Given the description of an element on the screen output the (x, y) to click on. 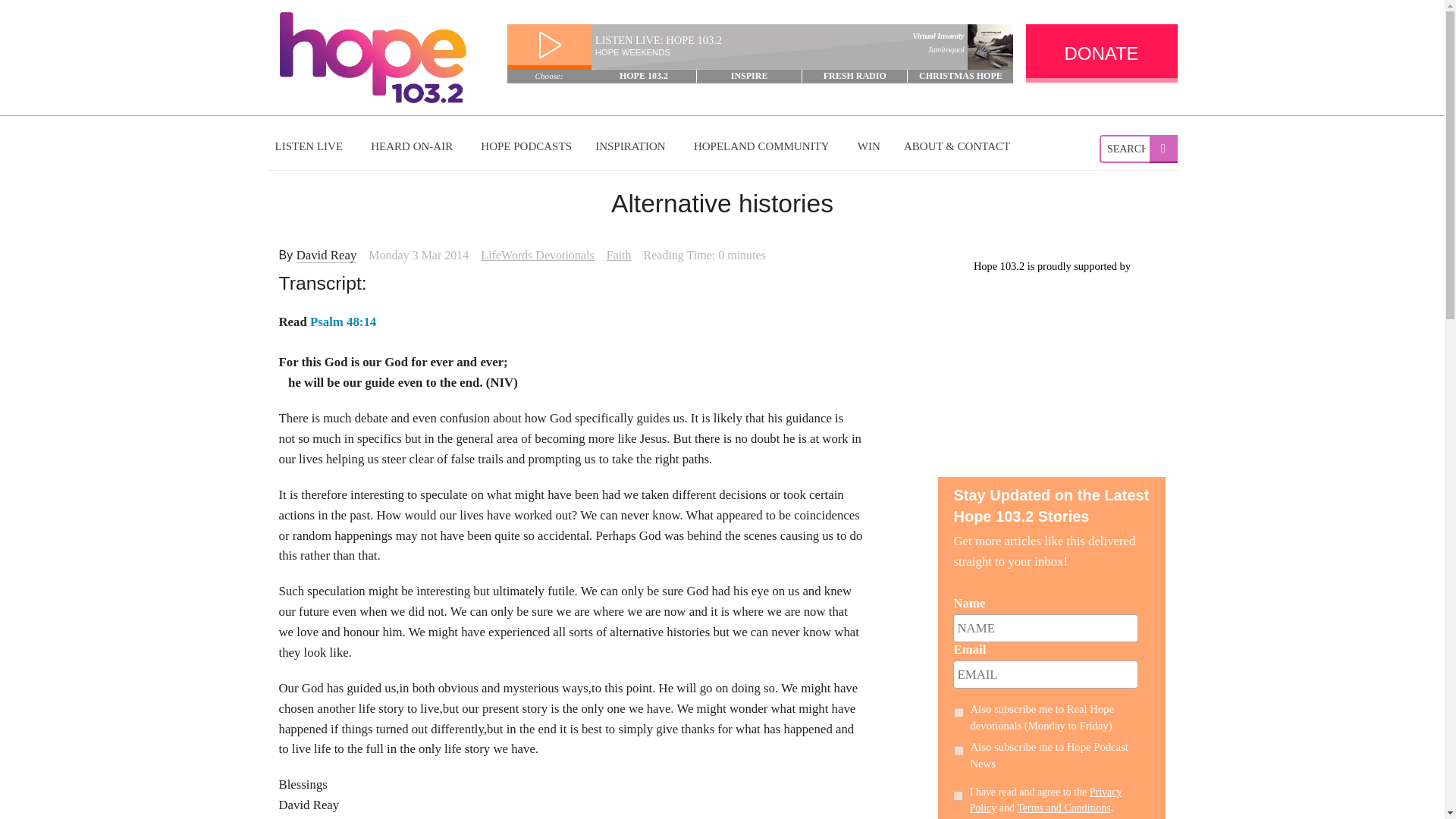
HEARD ON-AIR (413, 146)
LISTEN LIVE (310, 146)
3rd party ad content (1051, 370)
HOPE PODCASTS (526, 146)
INSPIRATION (633, 146)
HOPE 103.2 (644, 75)
FRESH RADIO (854, 75)
INSPIRE (749, 75)
CHRISTMAS HOPE (960, 75)
DONATE (1100, 53)
HOPELAND COMMUNITY (763, 146)
